Given the description of an element on the screen output the (x, y) to click on. 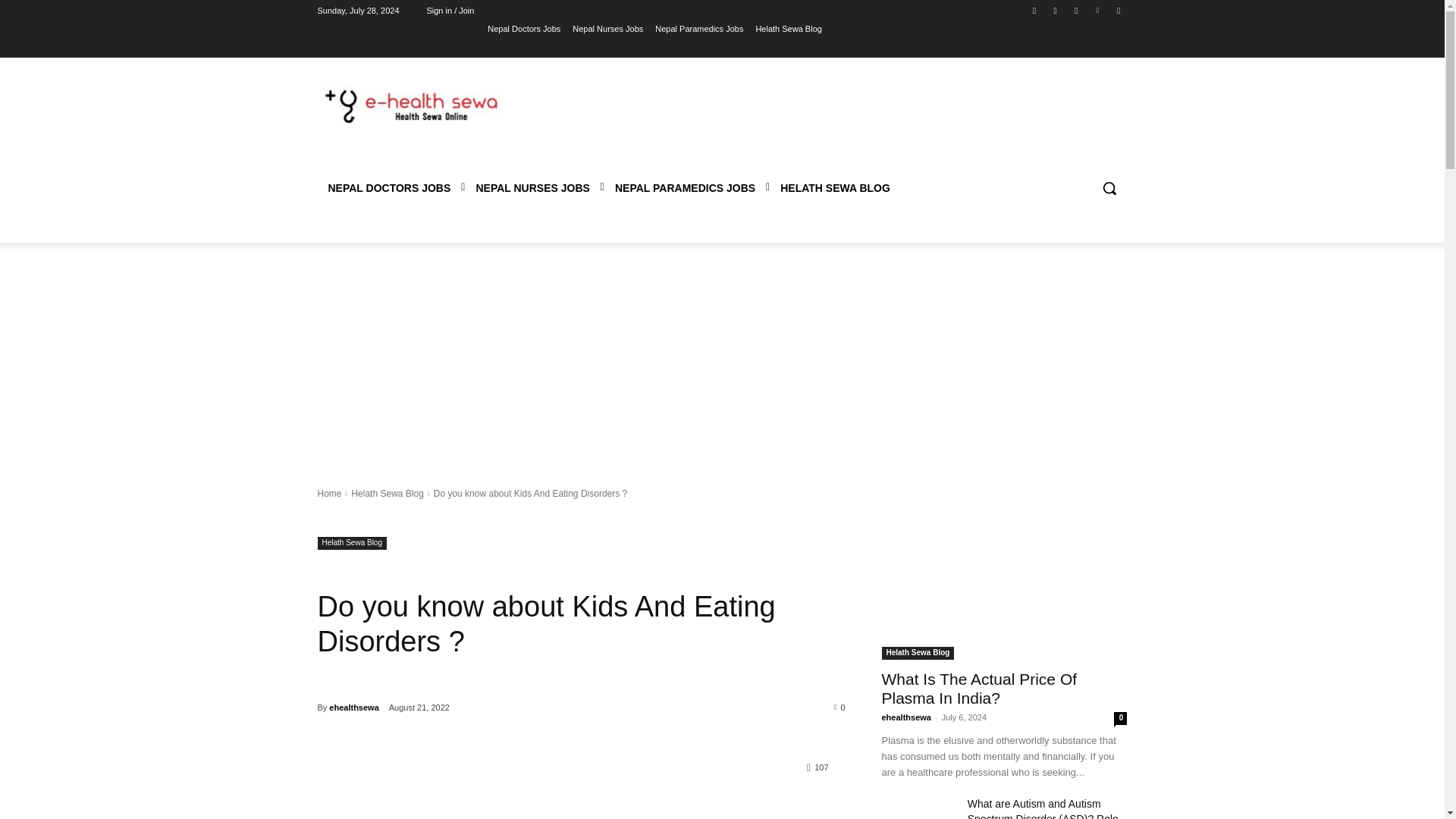
Helath Sewa Blog (386, 493)
Youtube (1117, 9)
Instagram (1055, 9)
HELATH SEWA BLOG (835, 187)
Nepal Nurses Jobs (607, 28)
Helath Sewa Blog (788, 28)
Nepal Paramedics Jobs (698, 28)
0 (839, 706)
NEPAL PARAMEDICS JOBS (684, 187)
NEPAL NURSES JOBS (531, 187)
Nepal Doctors Jobs (523, 28)
Helath Sewa Blog (352, 543)
Vimeo (1097, 9)
View all posts in Helath Sewa Blog (386, 493)
